Given the description of an element on the screen output the (x, y) to click on. 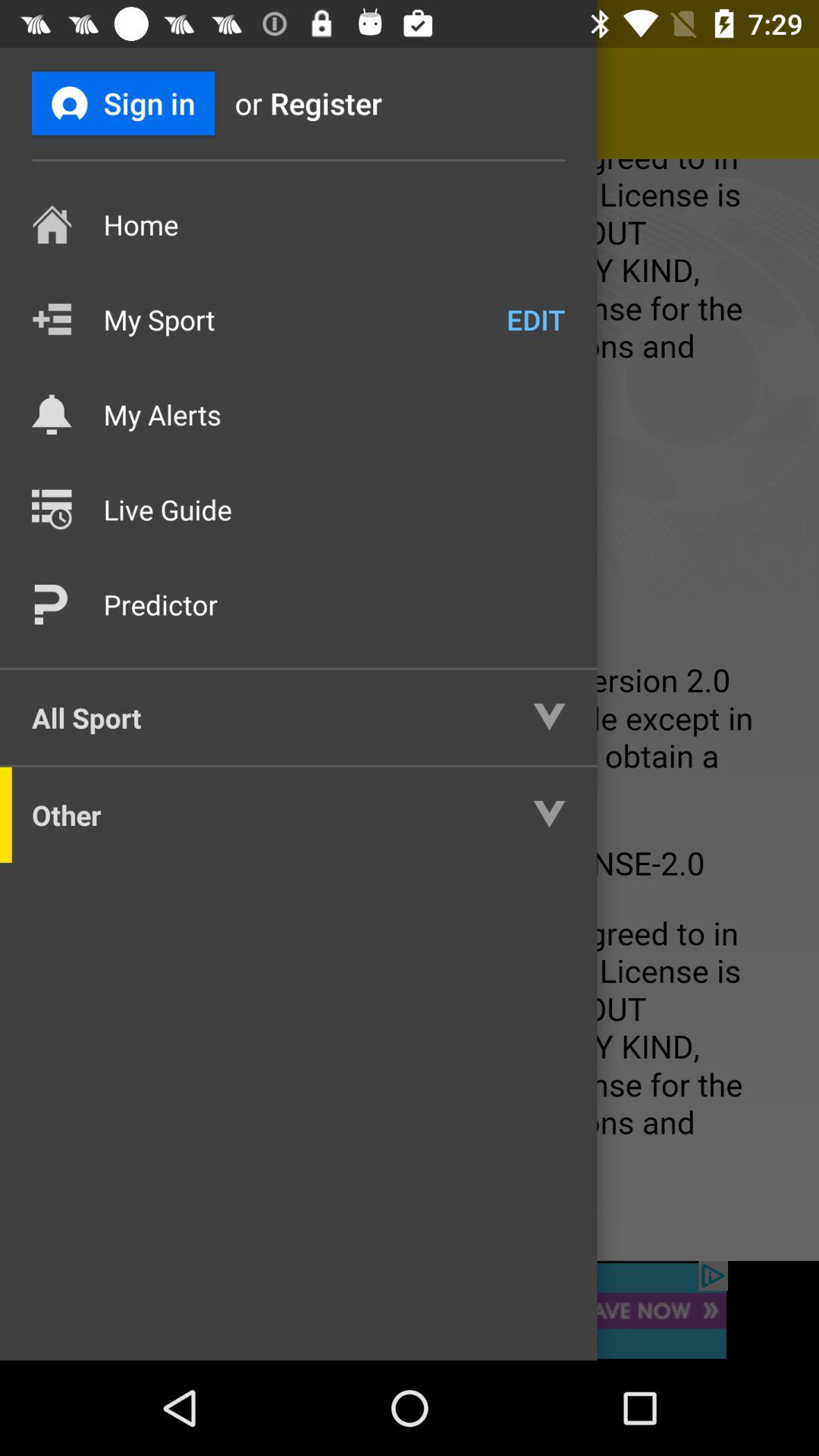
turn on edit icon (535, 319)
